Given the description of an element on the screen output the (x, y) to click on. 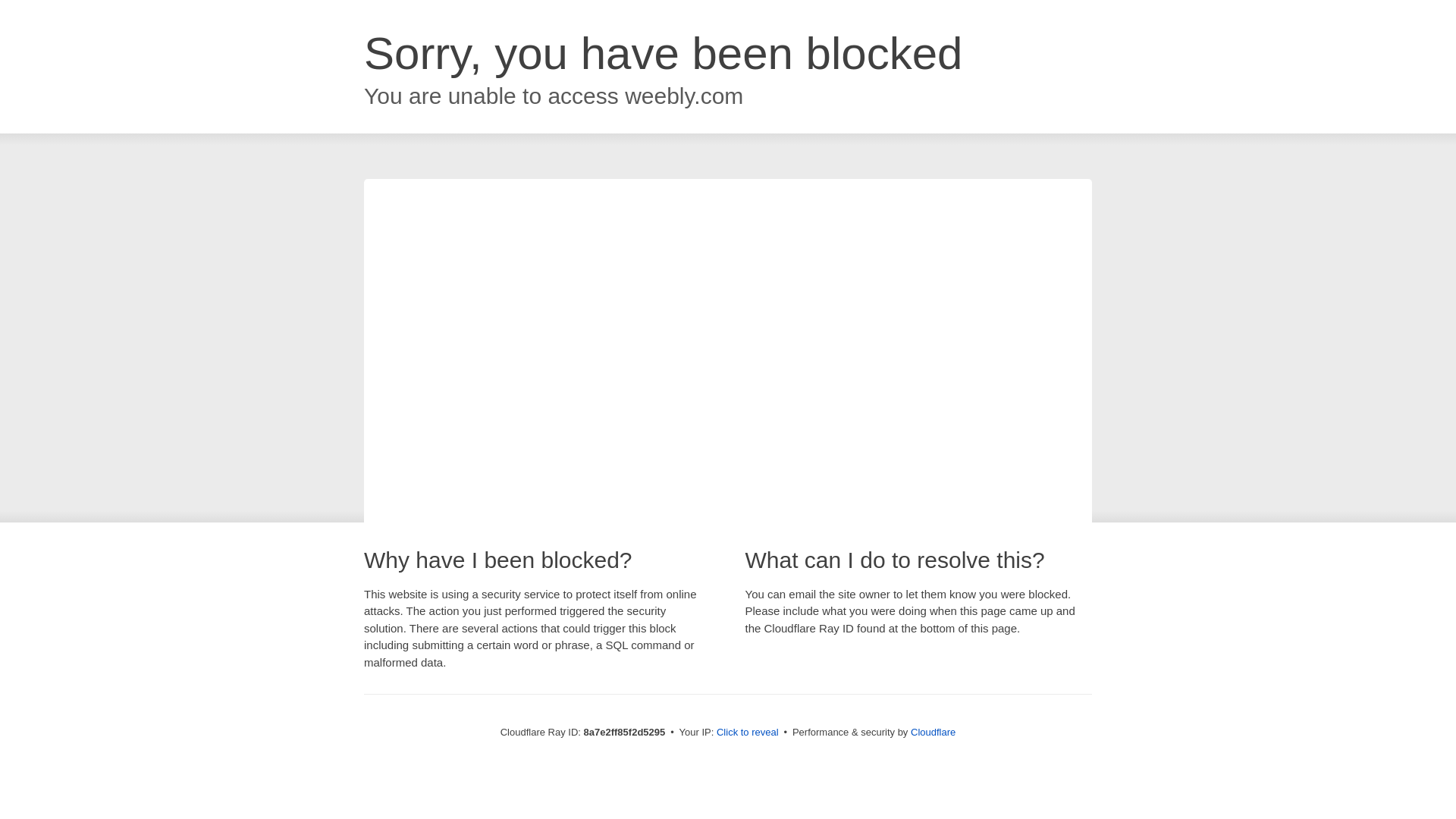
Click to reveal (747, 732)
Cloudflare (933, 731)
